Given the description of an element on the screen output the (x, y) to click on. 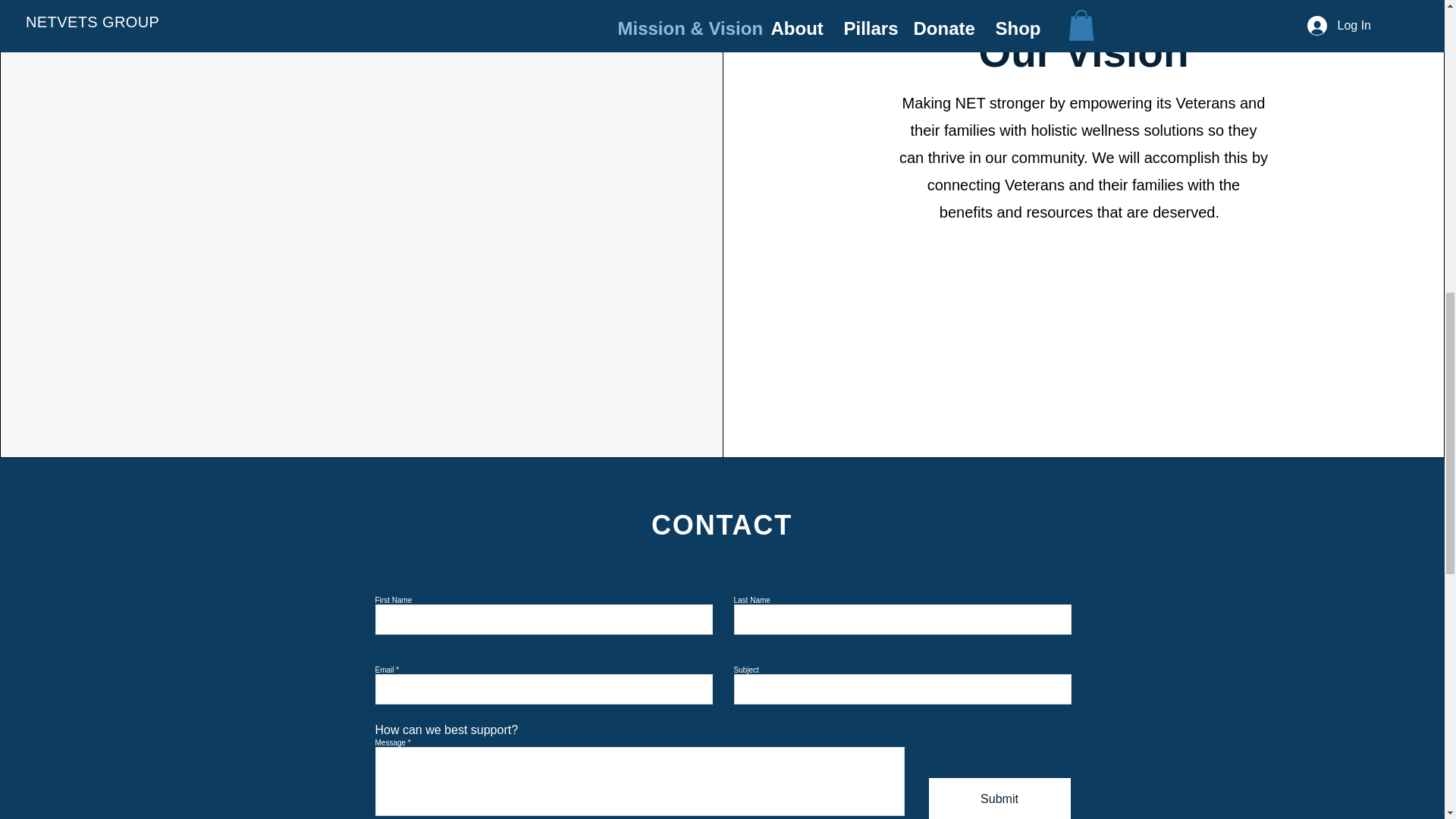
Submit (999, 798)
